Given the description of an element on the screen output the (x, y) to click on. 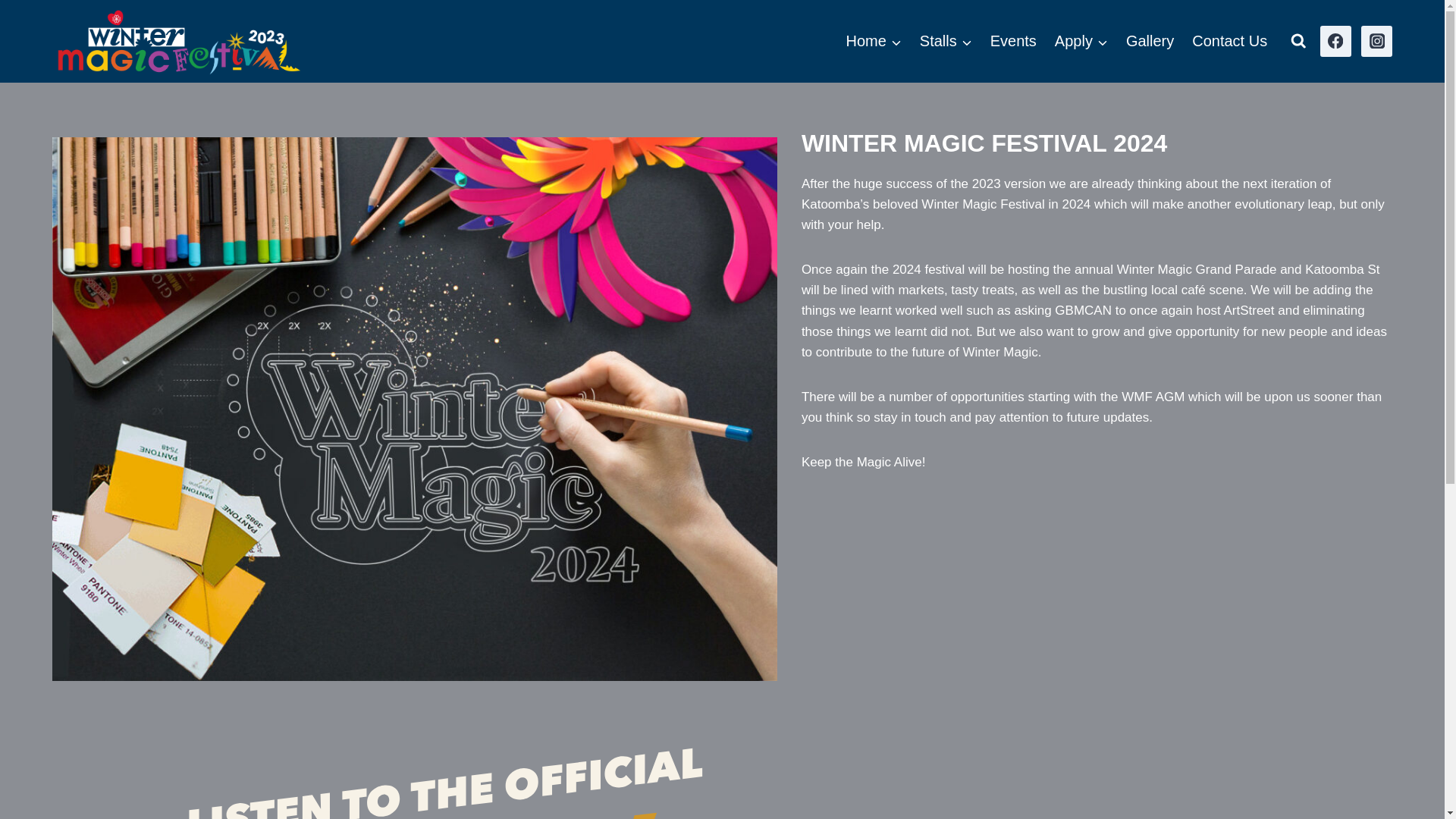
Gallery Element type: text (1150, 40)
Home Element type: text (873, 40)
Stalls Element type: text (945, 40)
Events Element type: text (1013, 40)
Contact Us Element type: text (1229, 40)
Apply Element type: text (1081, 40)
